Given the description of an element on the screen output the (x, y) to click on. 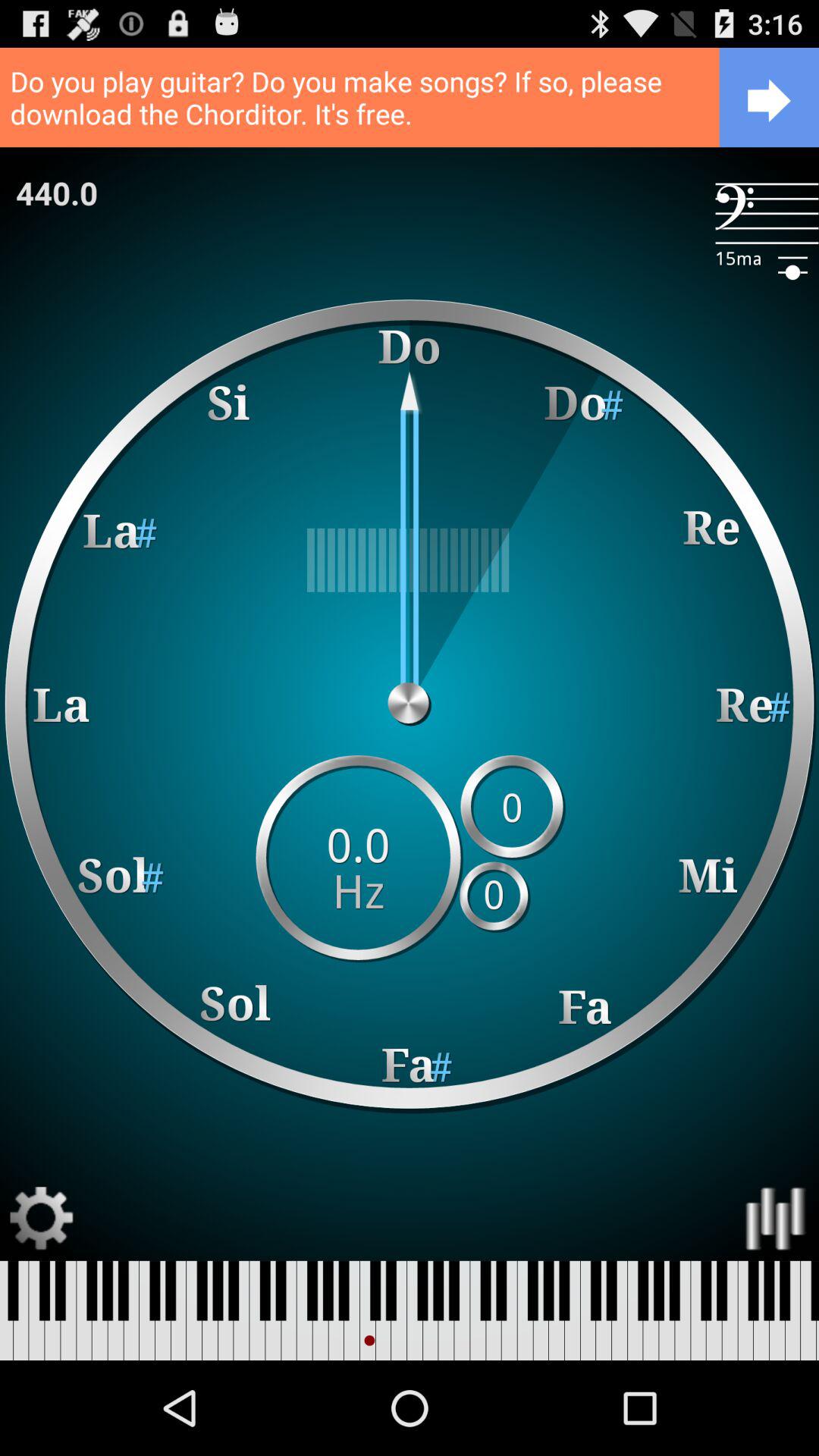
flip until 440.0 (56, 192)
